Given the description of an element on the screen output the (x, y) to click on. 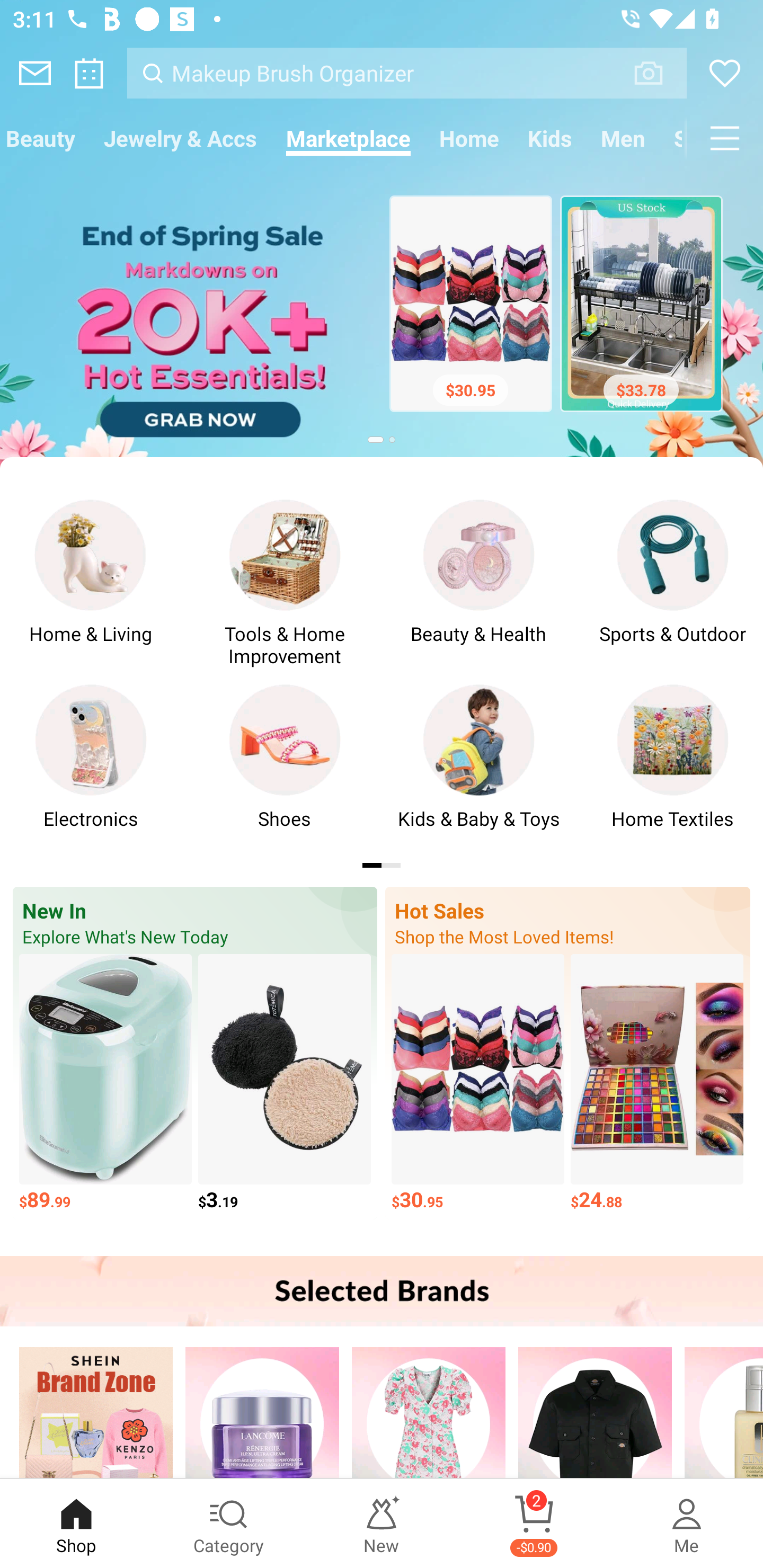
Wishlist (724, 72)
VISUAL SEARCH (657, 72)
Beauty (44, 137)
Jewelry & Accs (180, 137)
Marketplace (347, 137)
Home (468, 137)
Kids (549, 137)
Men (622, 137)
$30.95 $33.78 (381, 307)
Home & Living (90, 582)
Tools & Home Improvement (284, 582)
Beauty & Health (478, 582)
Sports & Outdoor (672, 582)
Electronics (90, 766)
Shoes (284, 766)
Kids & Baby & Toys (478, 766)
Home Textiles (672, 766)
$89.99 Price $89.99 (105, 1083)
$3.19 Price $3.19 (284, 1083)
$30.95 Price $30.95 (477, 1083)
$24.88 Price $24.88 (656, 1083)
Category (228, 1523)
New (381, 1523)
Cart 2 -$0.90 (533, 1523)
Me (686, 1523)
